Given the description of an element on the screen output the (x, y) to click on. 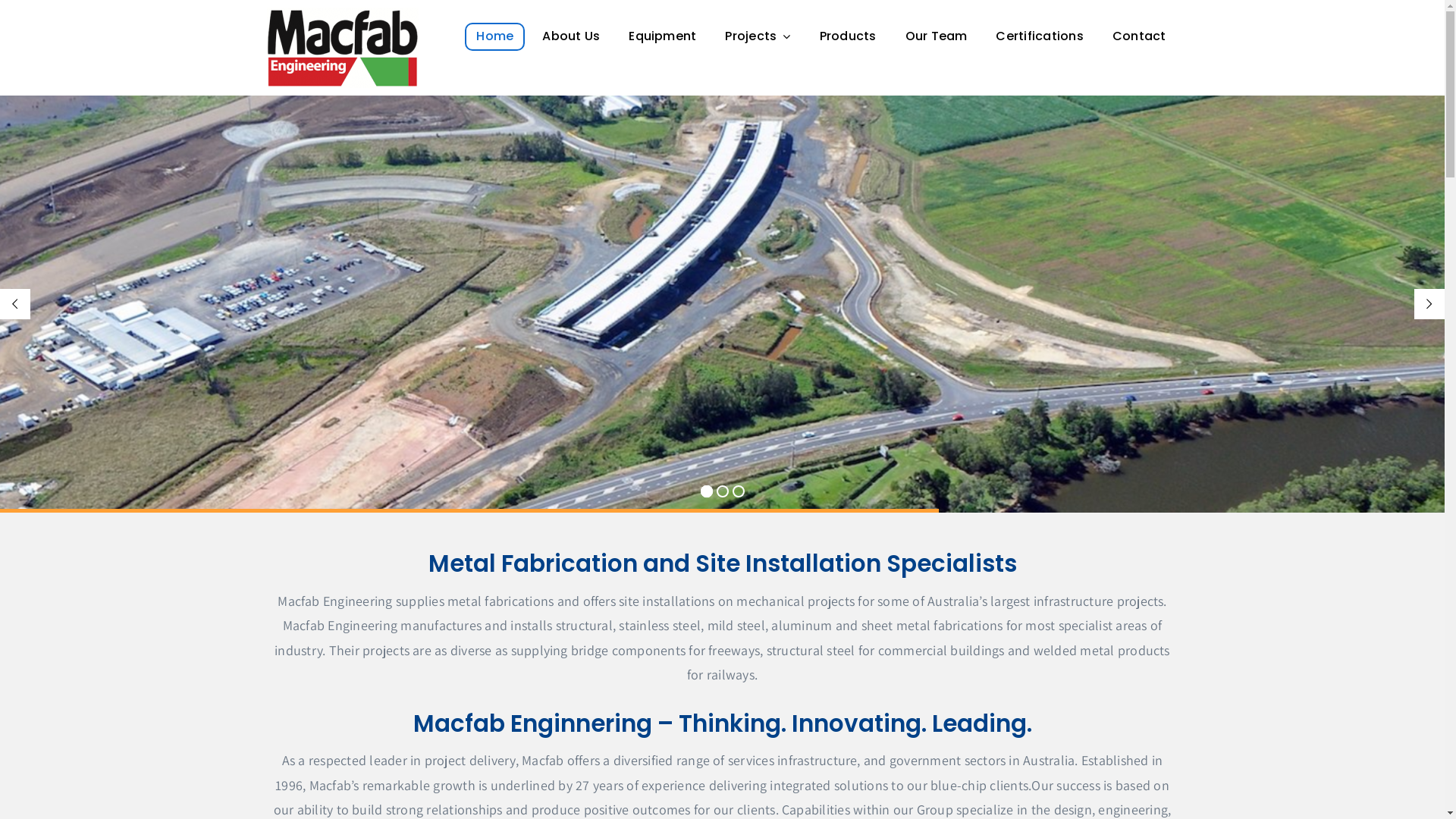
Projects Element type: text (757, 36)
Contact Element type: text (1139, 36)
Our Team Element type: text (936, 36)
Equipment Element type: text (662, 36)
Home Element type: text (494, 36)
About Us Element type: text (570, 36)
Products Element type: text (848, 36)
Certifications Element type: text (1039, 36)
